Given the description of an element on the screen output the (x, y) to click on. 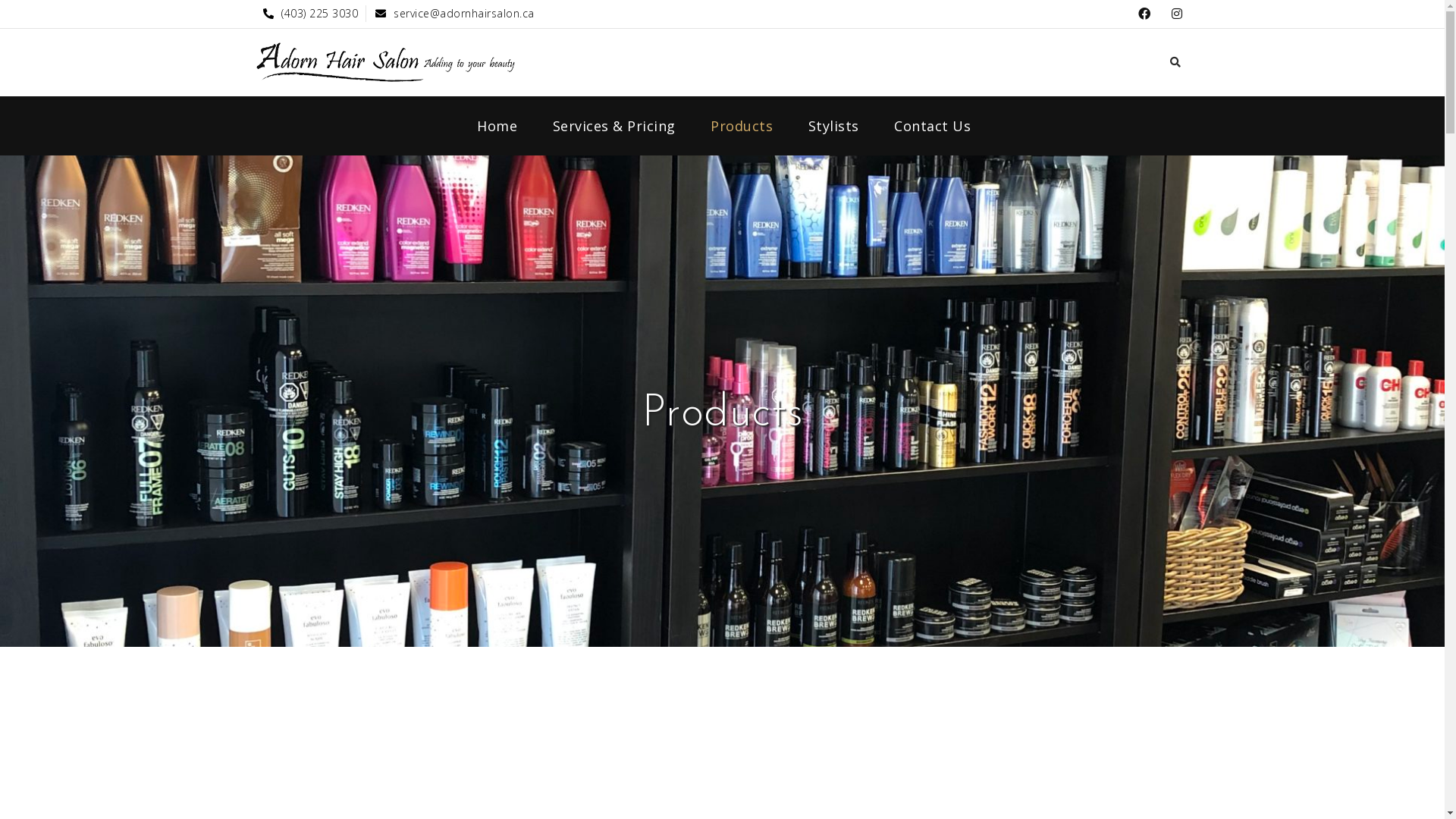
Home Element type: text (497, 125)
Products Element type: text (741, 125)
Services & Pricing Element type: text (613, 125)
Facebook Element type: text (1143, 14)
service@adornhairsalon.ca Element type: text (454, 13)
(403) 225 3030 Element type: text (310, 13)
Go Element type: text (1046, 409)
Stylists Element type: text (833, 125)
Contact Us Element type: text (932, 125)
Dribbble Element type: text (1177, 14)
